Given the description of an element on the screen output the (x, y) to click on. 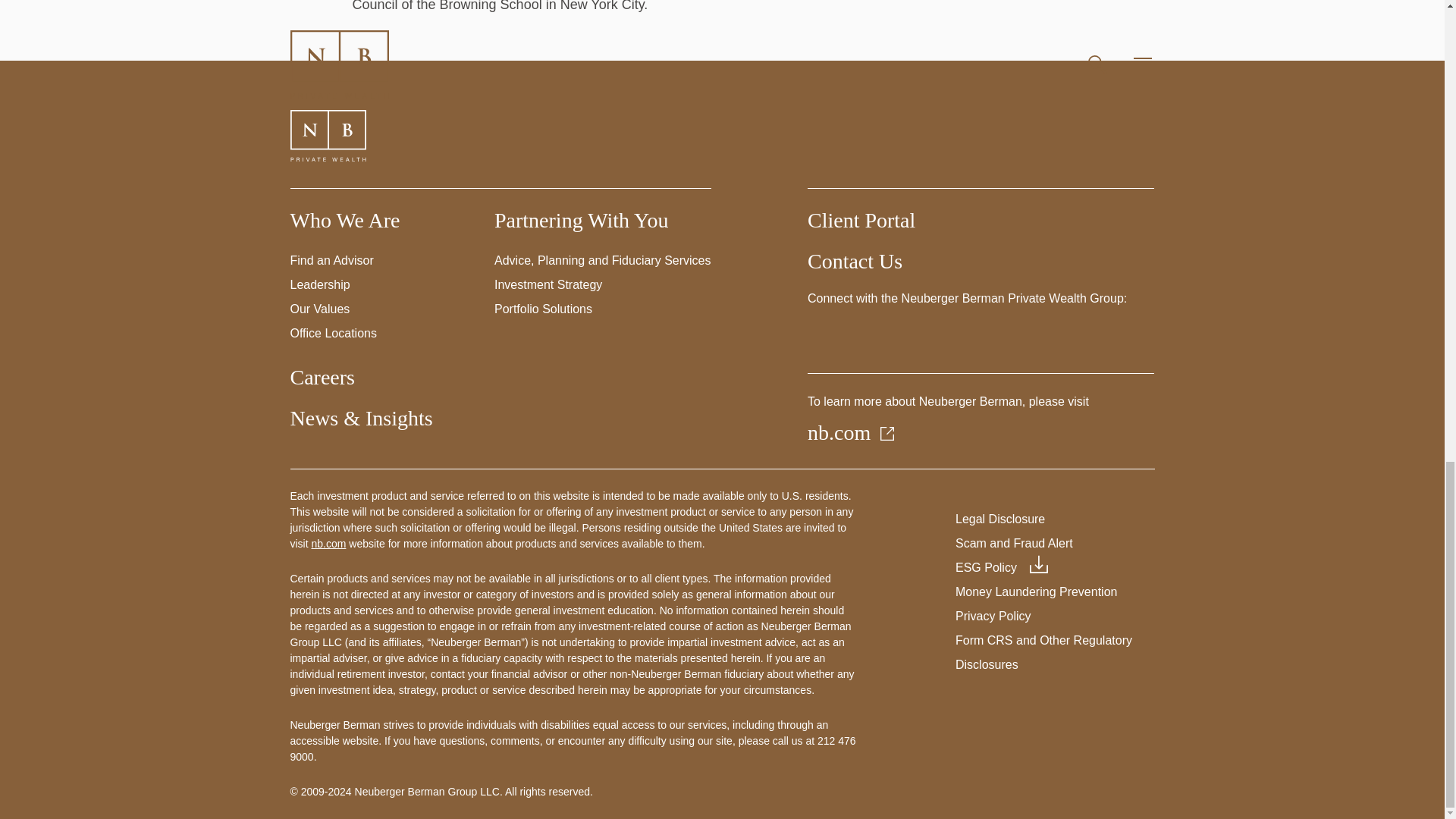
Client Portal (861, 219)
Our Values (319, 308)
nb.com (853, 432)
nb.com (328, 543)
Portfolio Solutions (543, 308)
Advice, Planning and Fiduciary Services (602, 259)
Find an Advisor (330, 259)
Investment Strategy (548, 284)
Office Locations (332, 332)
Contact Us (855, 260)
